Given the description of an element on the screen output the (x, y) to click on. 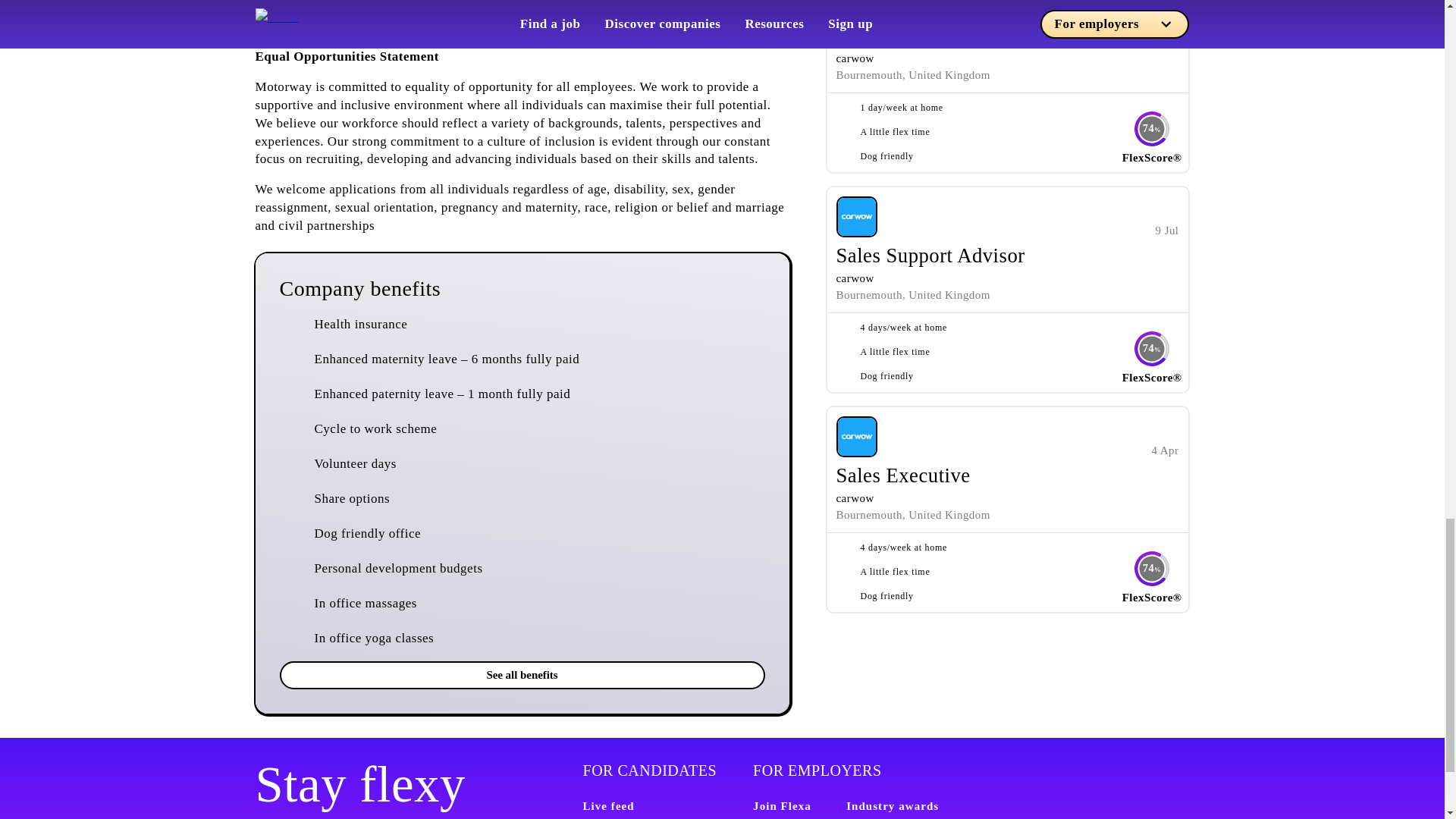
Sales Executive (902, 475)
Industry awards (892, 806)
carwow (854, 498)
Online Support Agent (927, 35)
carwow (854, 277)
Sales Support Advisor (930, 255)
Join Flexa (781, 806)
carwow (854, 58)
Live feed (607, 806)
See all benefits (521, 674)
